Given the description of an element on the screen output the (x, y) to click on. 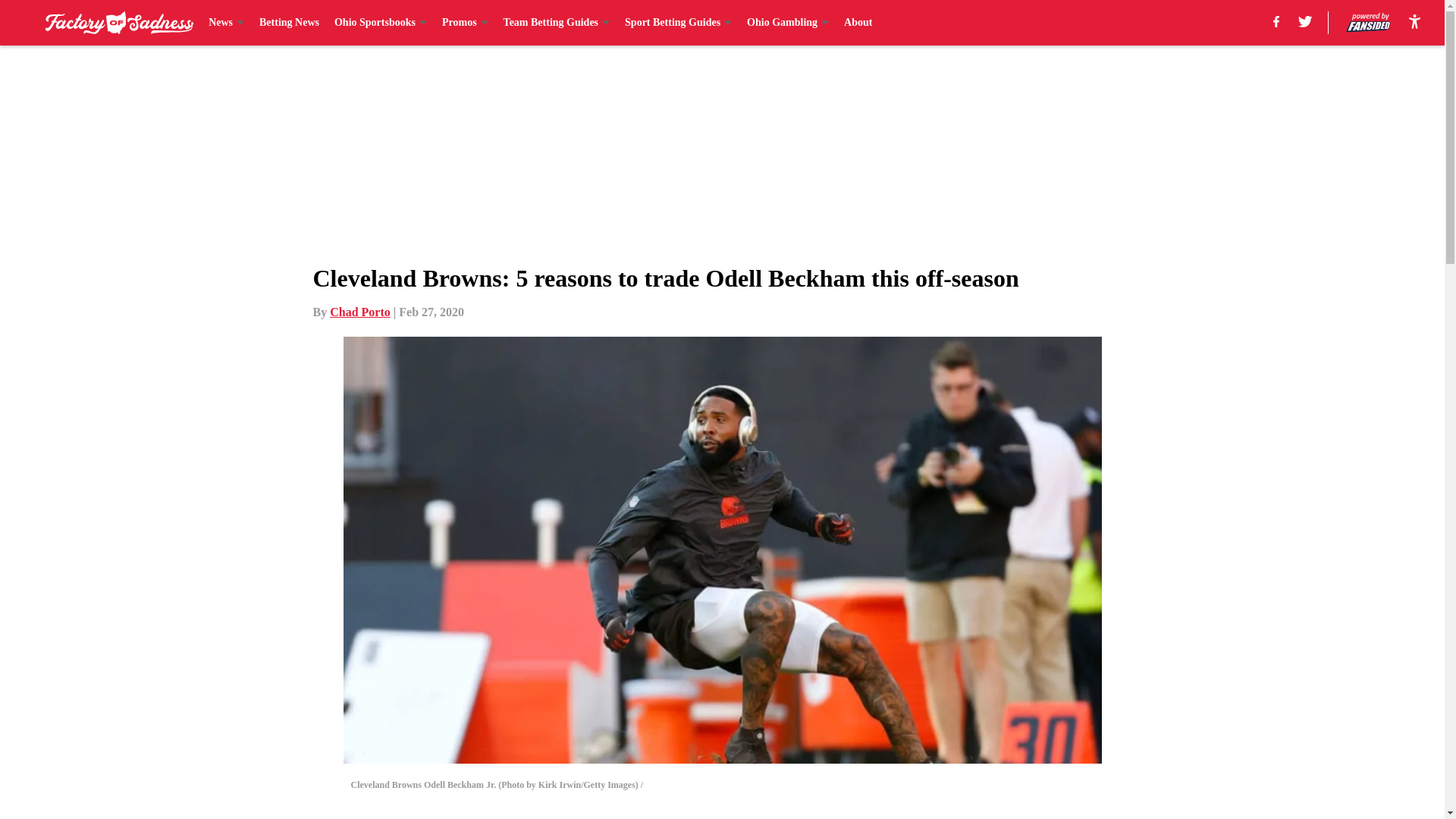
Betting News (288, 22)
Chad Porto (360, 311)
About (858, 22)
